Given the description of an element on the screen output the (x, y) to click on. 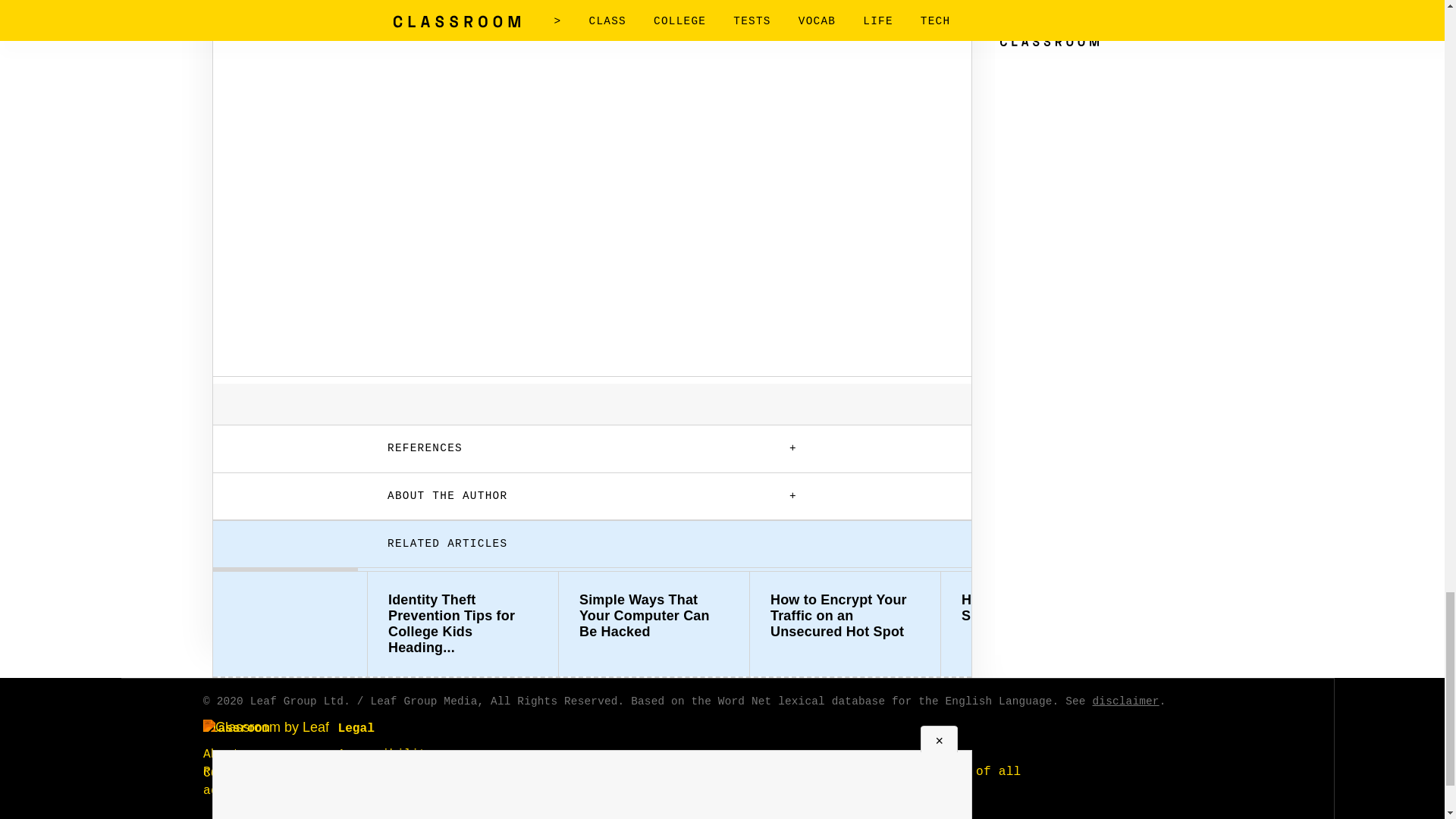
Privacy Policy (389, 792)
Types of Computer-Based Training (1227, 607)
How to Enable Anti-Spoof Checking (1035, 607)
How to Encrypt Your Traffic on an Unsecured Hot Spot (844, 615)
Simple Ways That Your Computer Can Be Hacked (654, 615)
About (221, 754)
Identity Theft Prevention Tips for College Kids Heading... (462, 623)
Accessibility (384, 754)
Copyright Policy (395, 812)
Contact (228, 773)
